Given the description of an element on the screen output the (x, y) to click on. 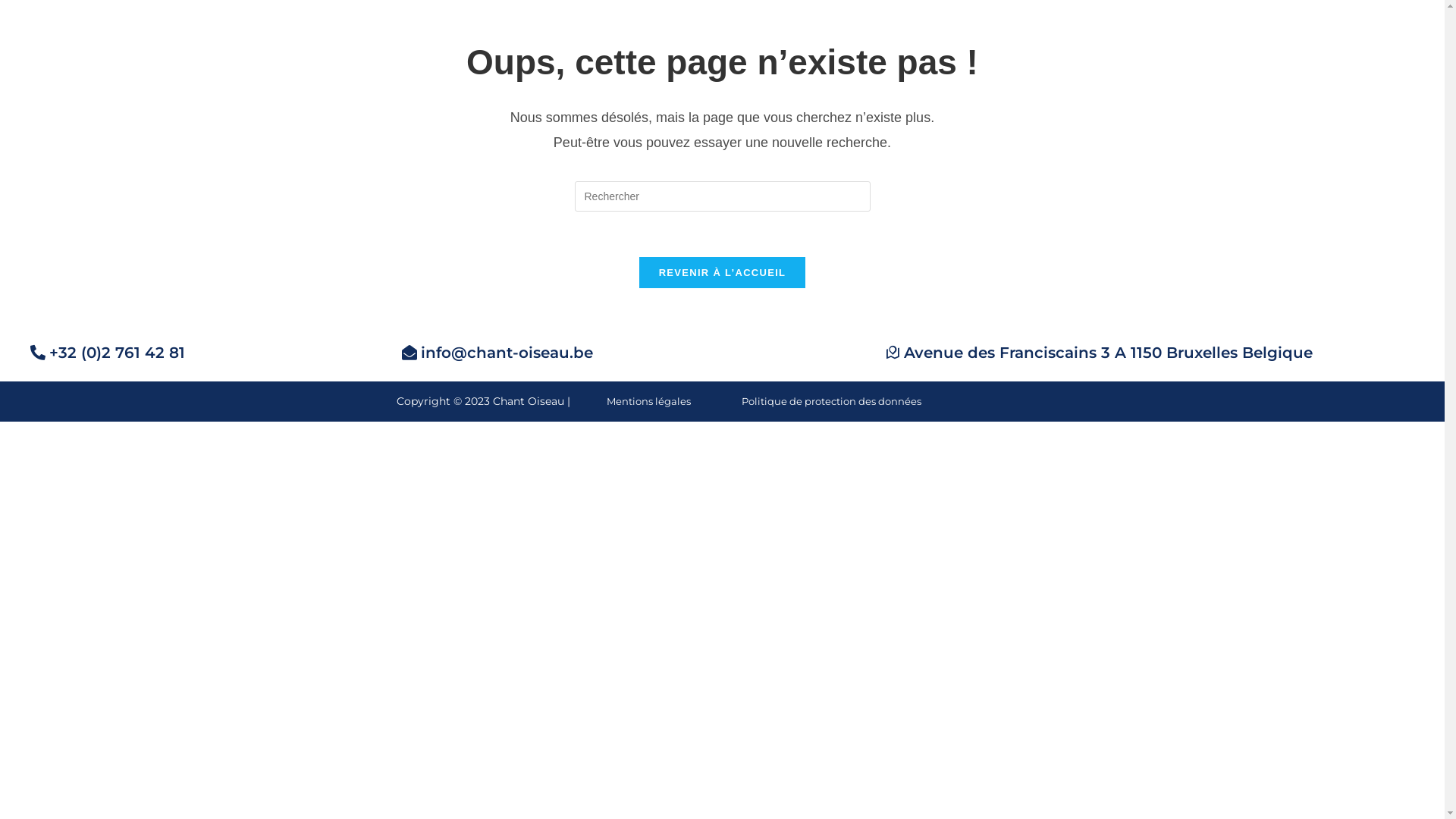
Avenue des Franciscains 3 A 1150 Bruxelles Belgique Element type: text (1098, 353)
+32 (0)2 761 42 81 Element type: text (107, 352)
info@chant-oiseau.be Element type: text (497, 352)
